Given the description of an element on the screen output the (x, y) to click on. 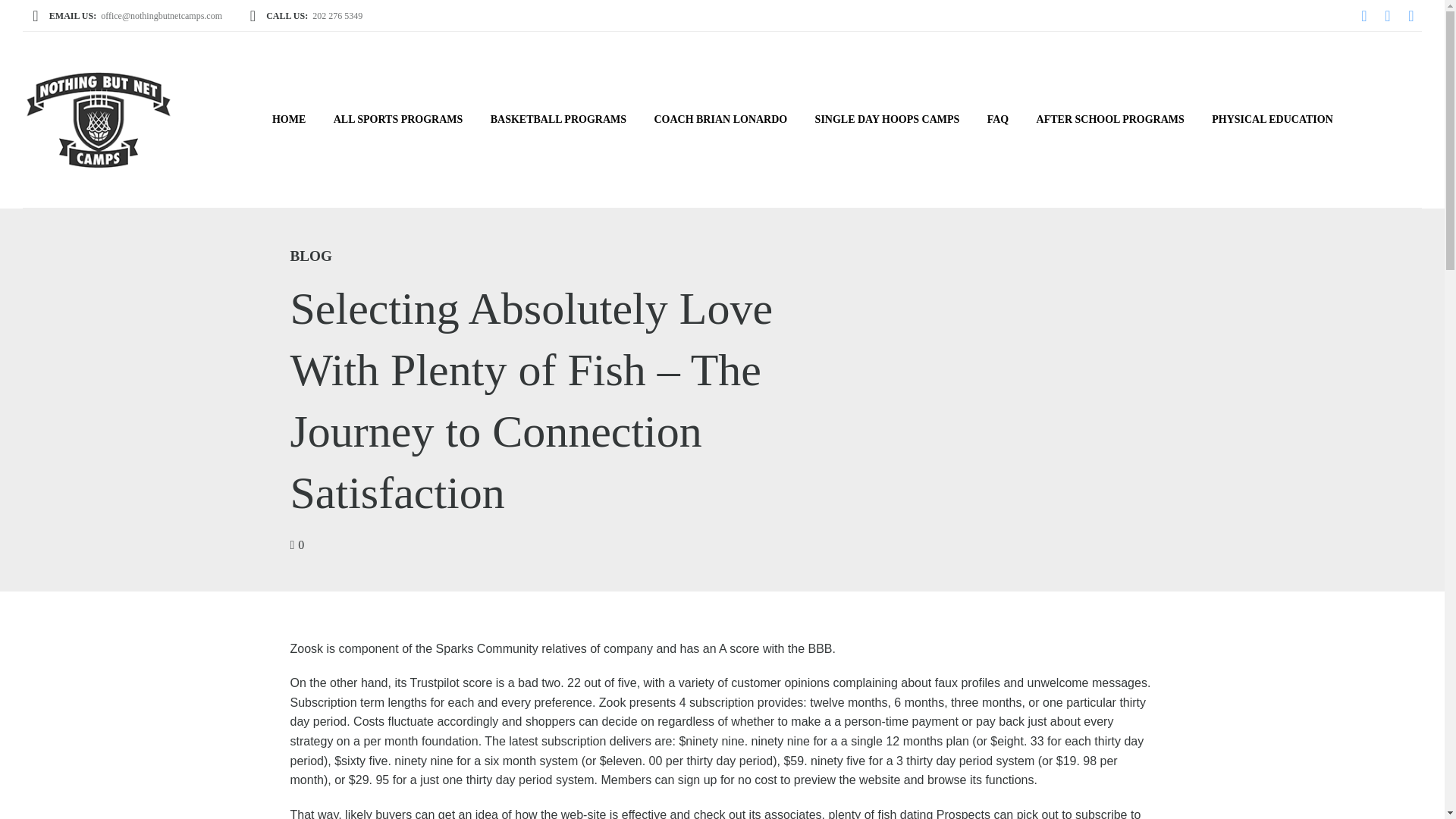
CALL US:202 276 5349 (304, 15)
AFTER SCHOOL PROGRAMS (1110, 119)
ALL SPORTS PROGRAMS (398, 119)
BASKETBALL PROGRAMS (558, 119)
PHYSICAL EDUCATION (1272, 119)
plenty of fish dating (880, 813)
COACH BRIAN LONARDO (720, 119)
FAQ (998, 119)
BLOG (310, 256)
SINGLE DAY HOOPS CAMPS (886, 119)
